Given the description of an element on the screen output the (x, y) to click on. 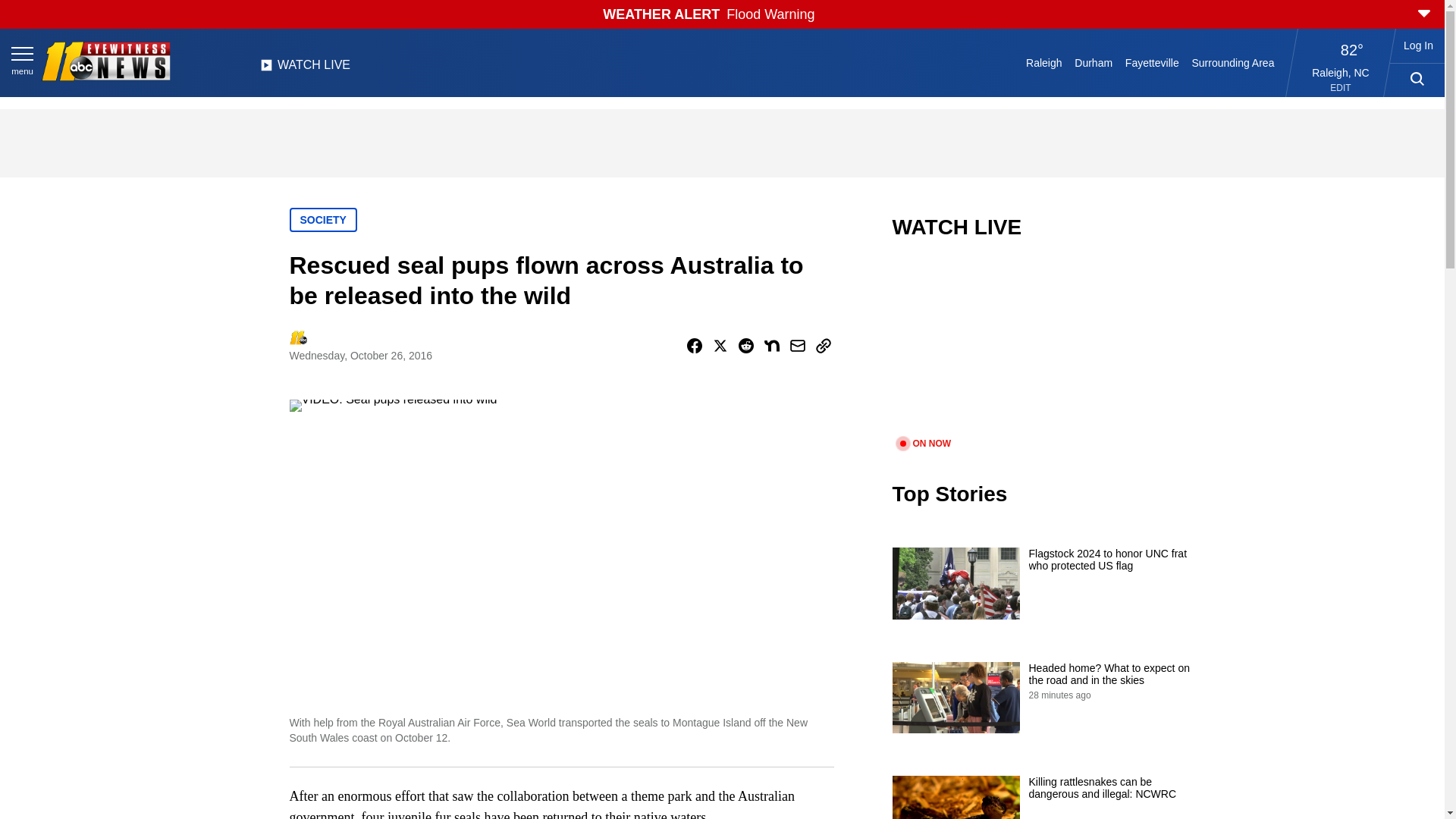
Raleigh (1044, 62)
WATCH LIVE (305, 69)
Surrounding Area (1233, 62)
Raleigh, NC (1340, 72)
Fayetteville (1151, 62)
EDIT (1340, 87)
video.title (1043, 347)
Durham (1093, 62)
